Given the description of an element on the screen output the (x, y) to click on. 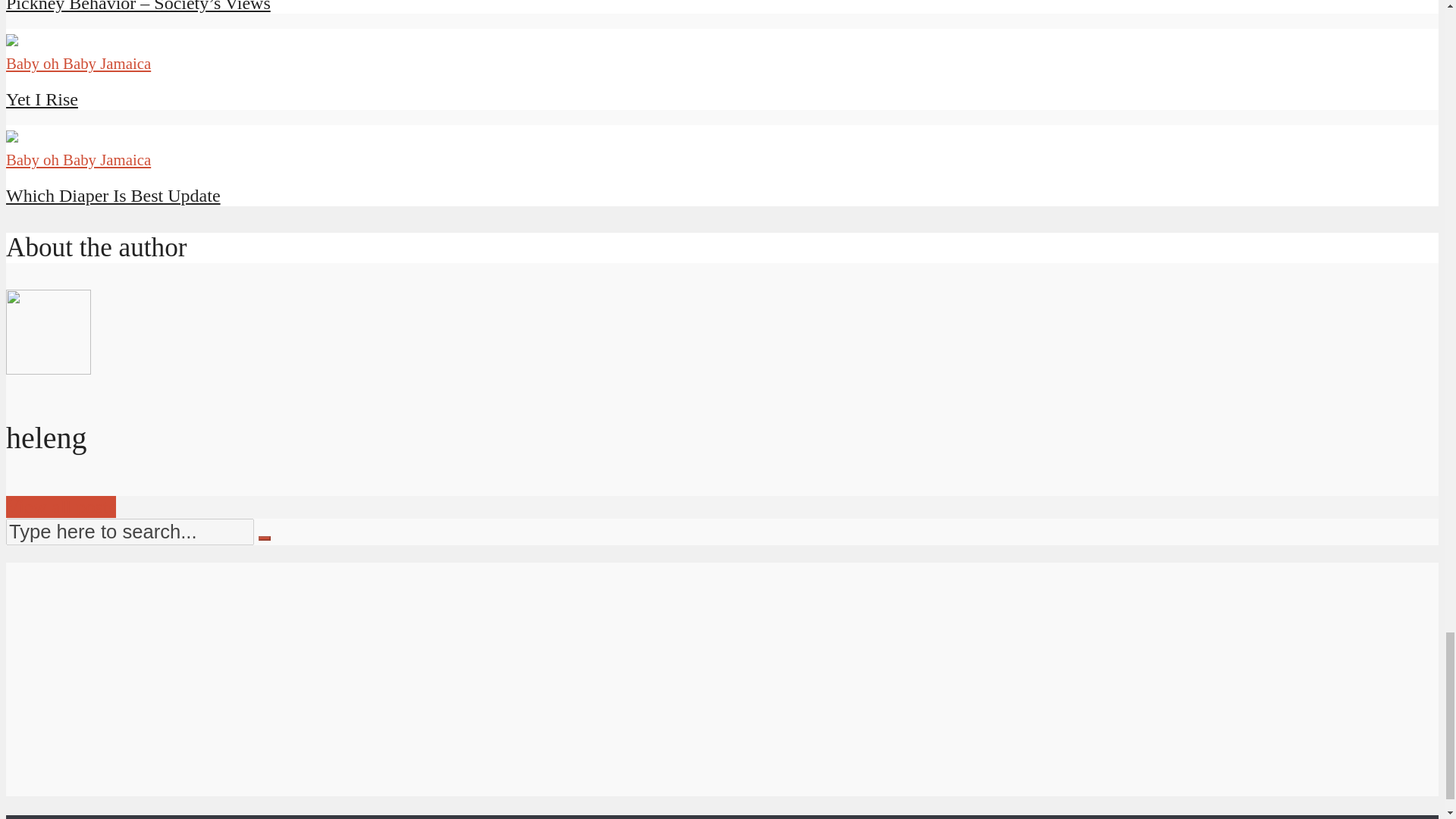
Type here to search... (129, 531)
Baby oh Baby Jamaica (78, 159)
Which Diaper Is Best Update (113, 195)
Which Diaper Is Best Update (113, 195)
Yet I Rise (41, 98)
Type here to search... (129, 531)
Baby oh Baby Jamaica (78, 63)
Yet I Rise (41, 98)
